Given the description of an element on the screen output the (x, y) to click on. 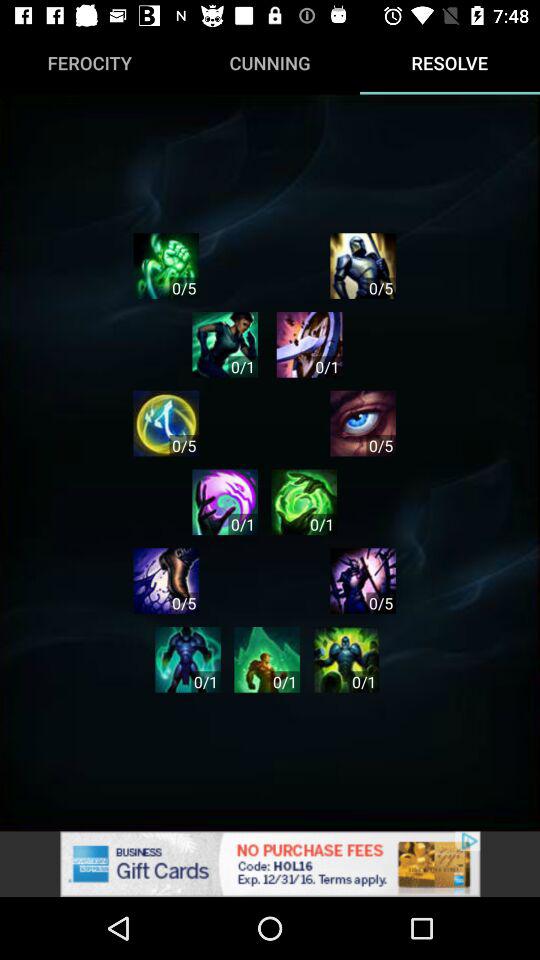
select player (309, 344)
